Given the description of an element on the screen output the (x, y) to click on. 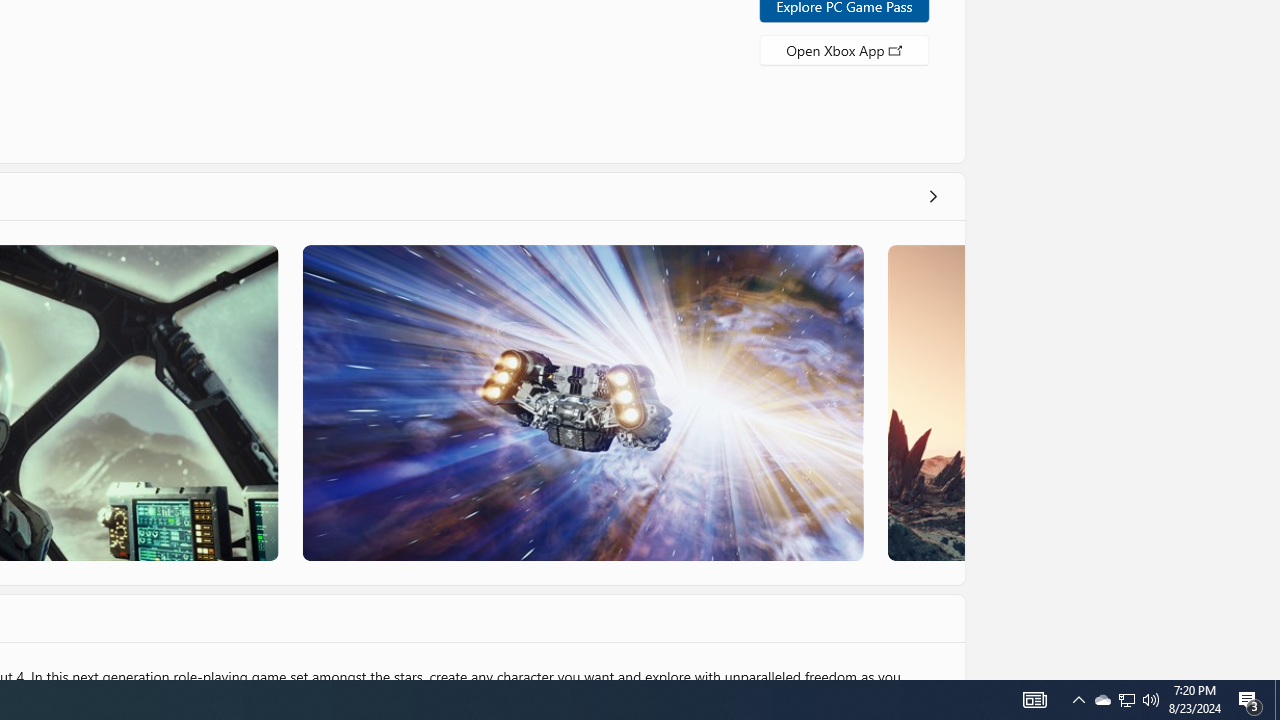
Screenshot 3 (582, 402)
Screenshot 4 (925, 402)
See all (932, 195)
Open Xbox App (844, 48)
